Given the description of an element on the screen output the (x, y) to click on. 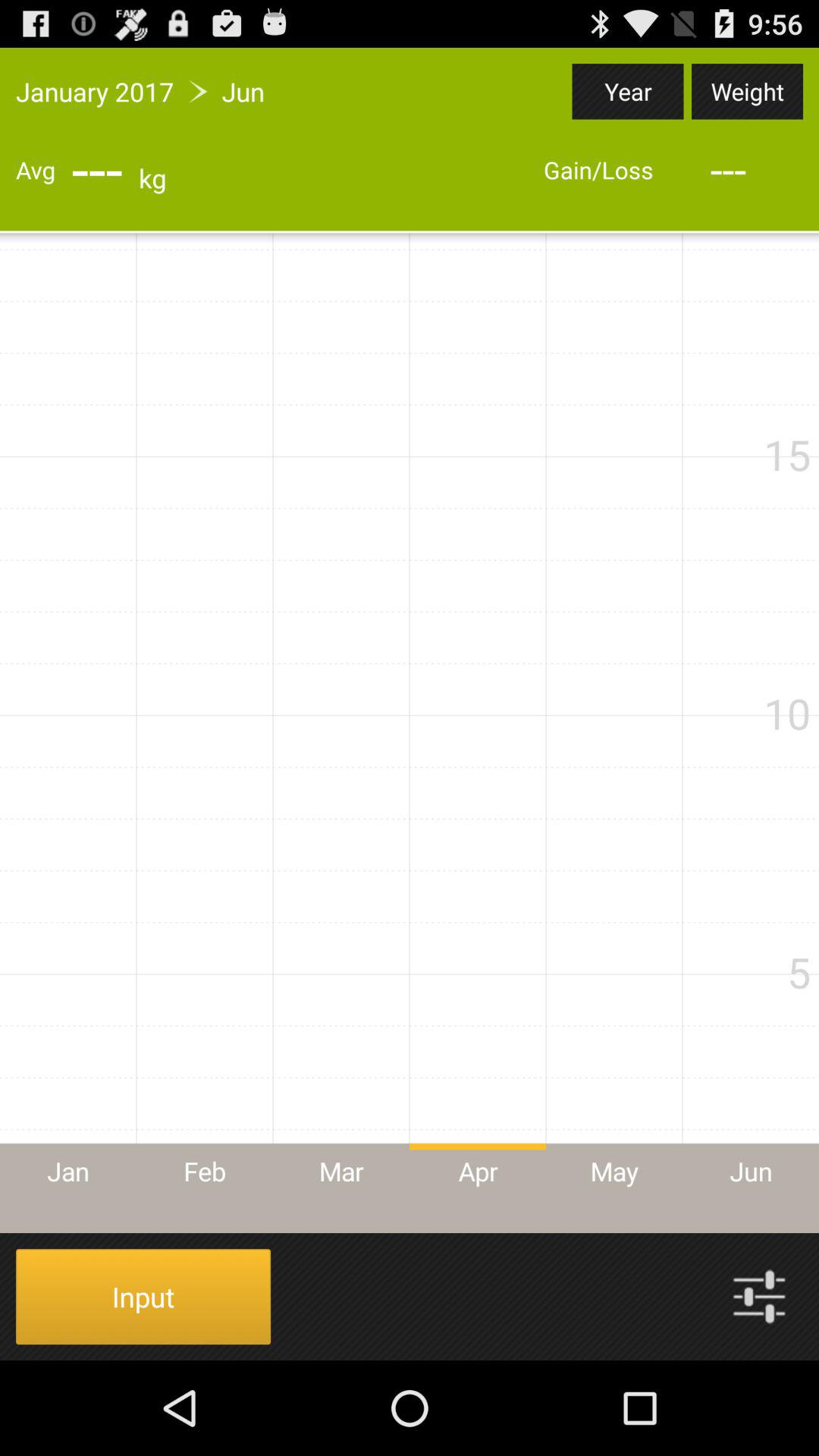
press the weight app (747, 91)
